Given the description of an element on the screen output the (x, y) to click on. 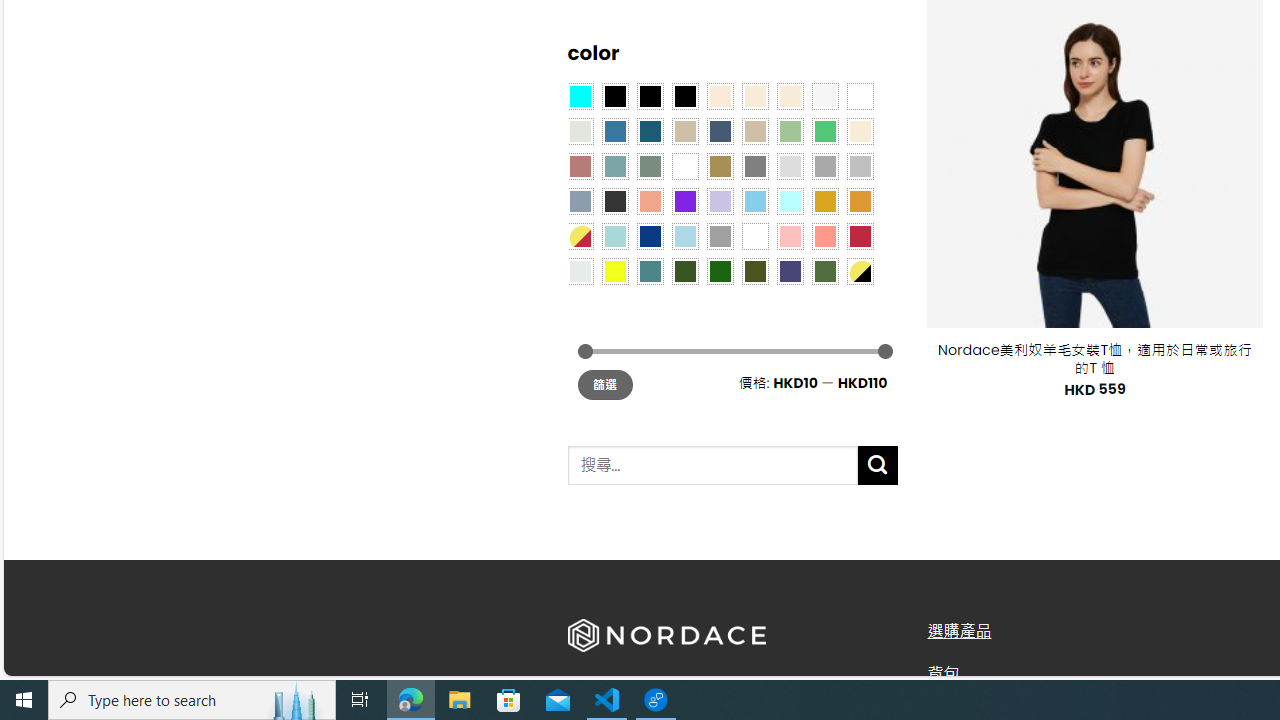
Cream (789, 95)
